Given the description of an element on the screen output the (x, y) to click on. 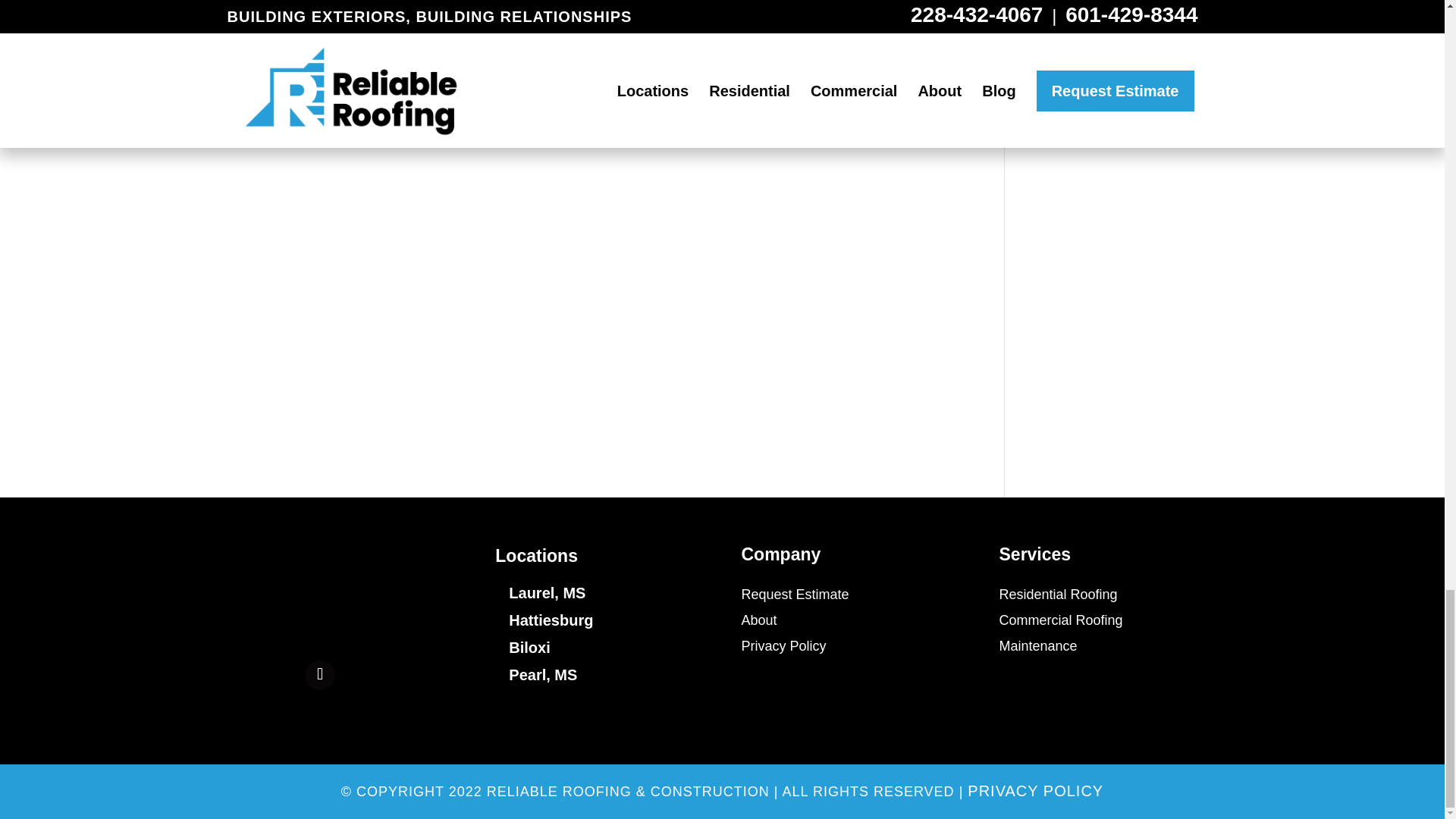
Privacy Policy (784, 645)
Residential Roofing (1058, 594)
Commercial Roofing (1060, 620)
reliable-roofing-official-logo blue and white-02 (319, 593)
Hattiesburg (550, 619)
Biloxi (529, 647)
About (759, 620)
Maintenance (1037, 645)
Laurel, MS (546, 592)
Pearl, MS (542, 674)
Request Estimate (794, 594)
Follow on Facebook (319, 675)
PRIVACY POLICY (1035, 790)
